Given the description of an element on the screen output the (x, y) to click on. 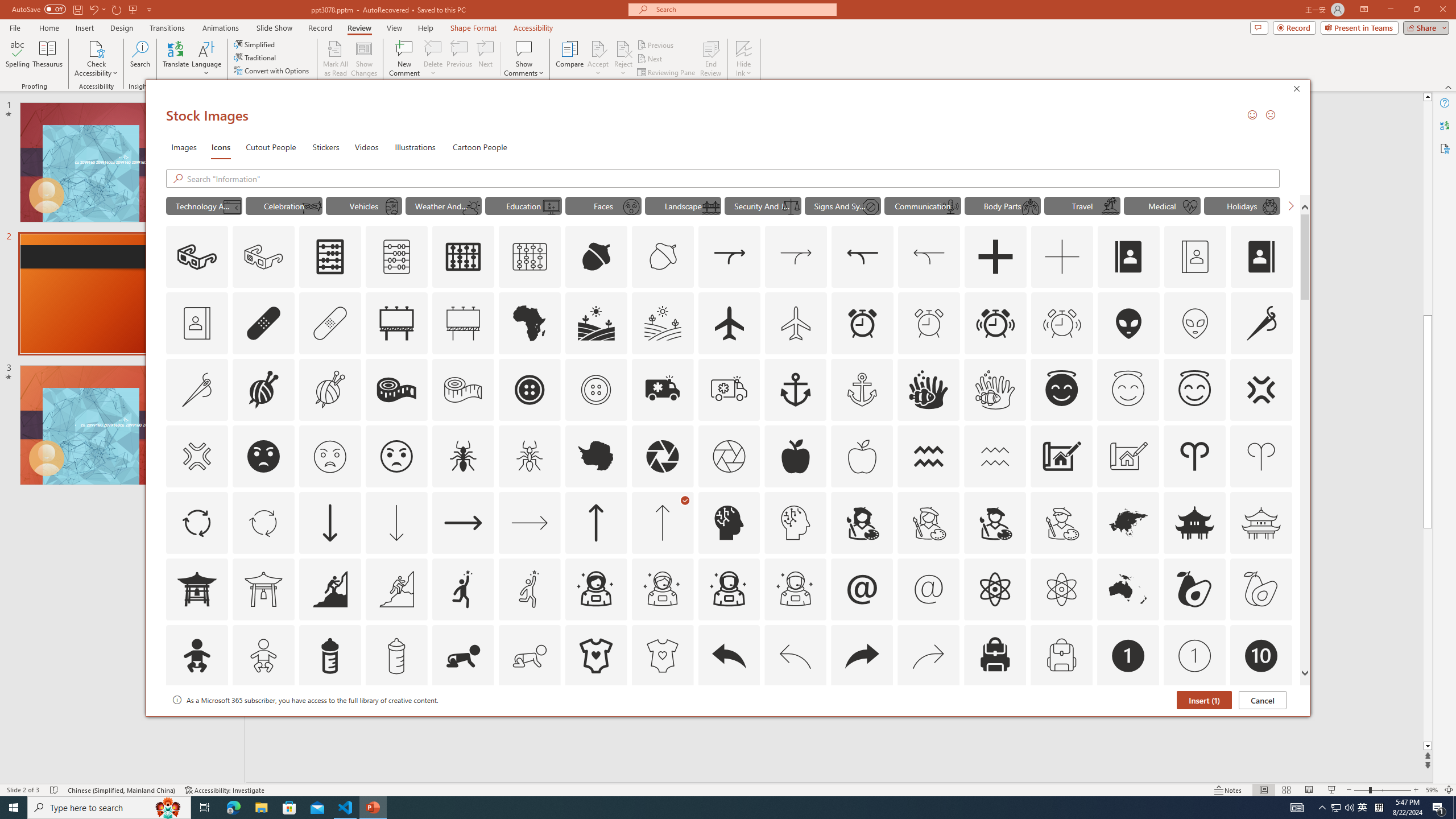
AutomationID: Icons_Back_RTL (861, 655)
AutomationID: Icons_Abacus_M (397, 256)
AutomationID: Icons_Aspiration1 (462, 588)
AutomationID: Icons_Architecture_M (1128, 455)
AutomationID: Icons_Ant_M (529, 455)
AutomationID: Icons_AddressBook_LTR_M (1194, 256)
AutomationID: Icons_ArrowCircle_M (263, 522)
